Given the description of an element on the screen output the (x, y) to click on. 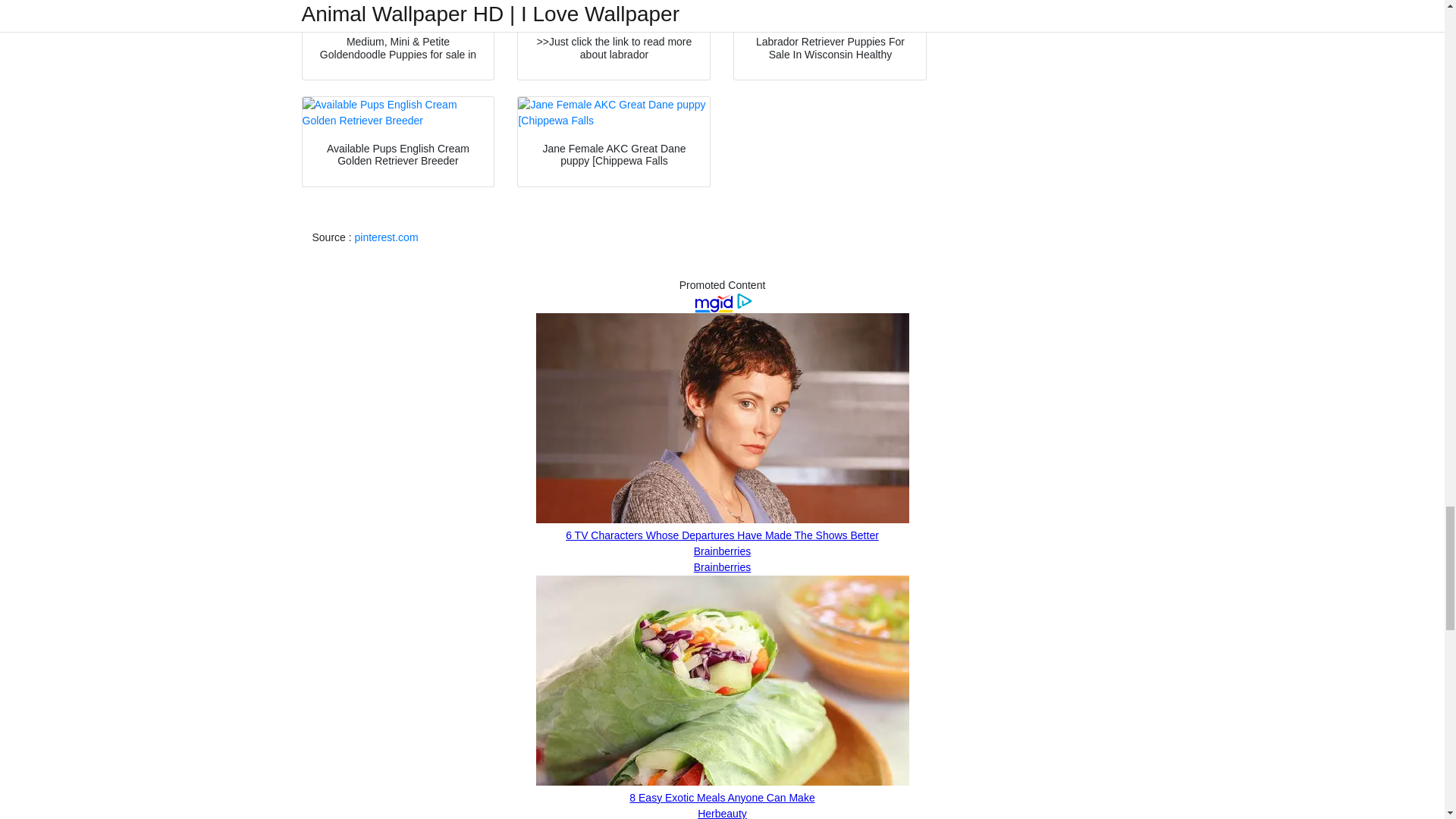
pinterest.com (387, 236)
